Given the description of an element on the screen output the (x, y) to click on. 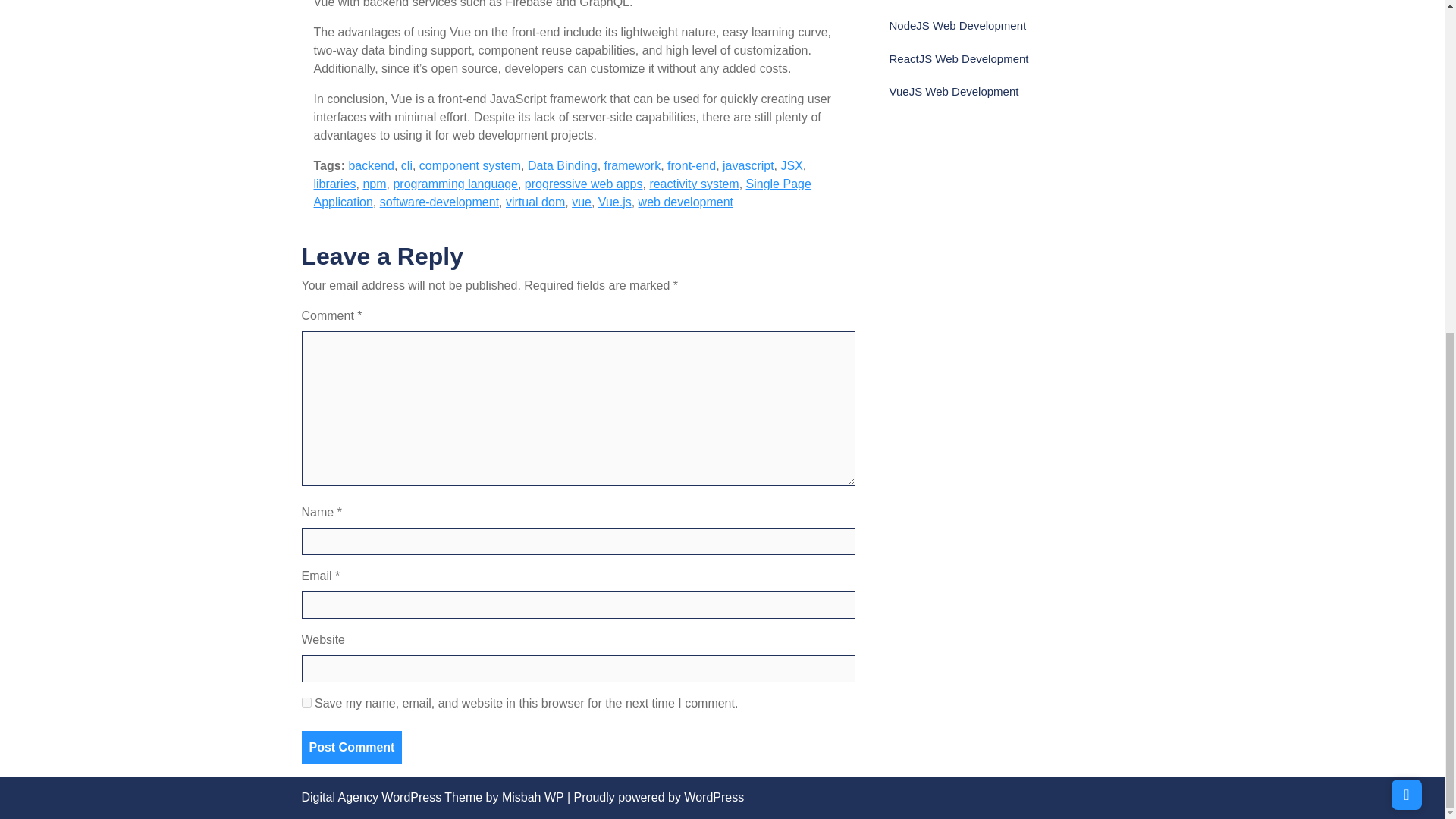
javascript (748, 164)
NodeJS Web Development (957, 24)
libraries (335, 183)
reactivity system (693, 183)
backend (370, 164)
vue (581, 201)
front-end (691, 164)
framework (632, 164)
programming language (455, 183)
virtual dom (534, 201)
